Given the description of an element on the screen output the (x, y) to click on. 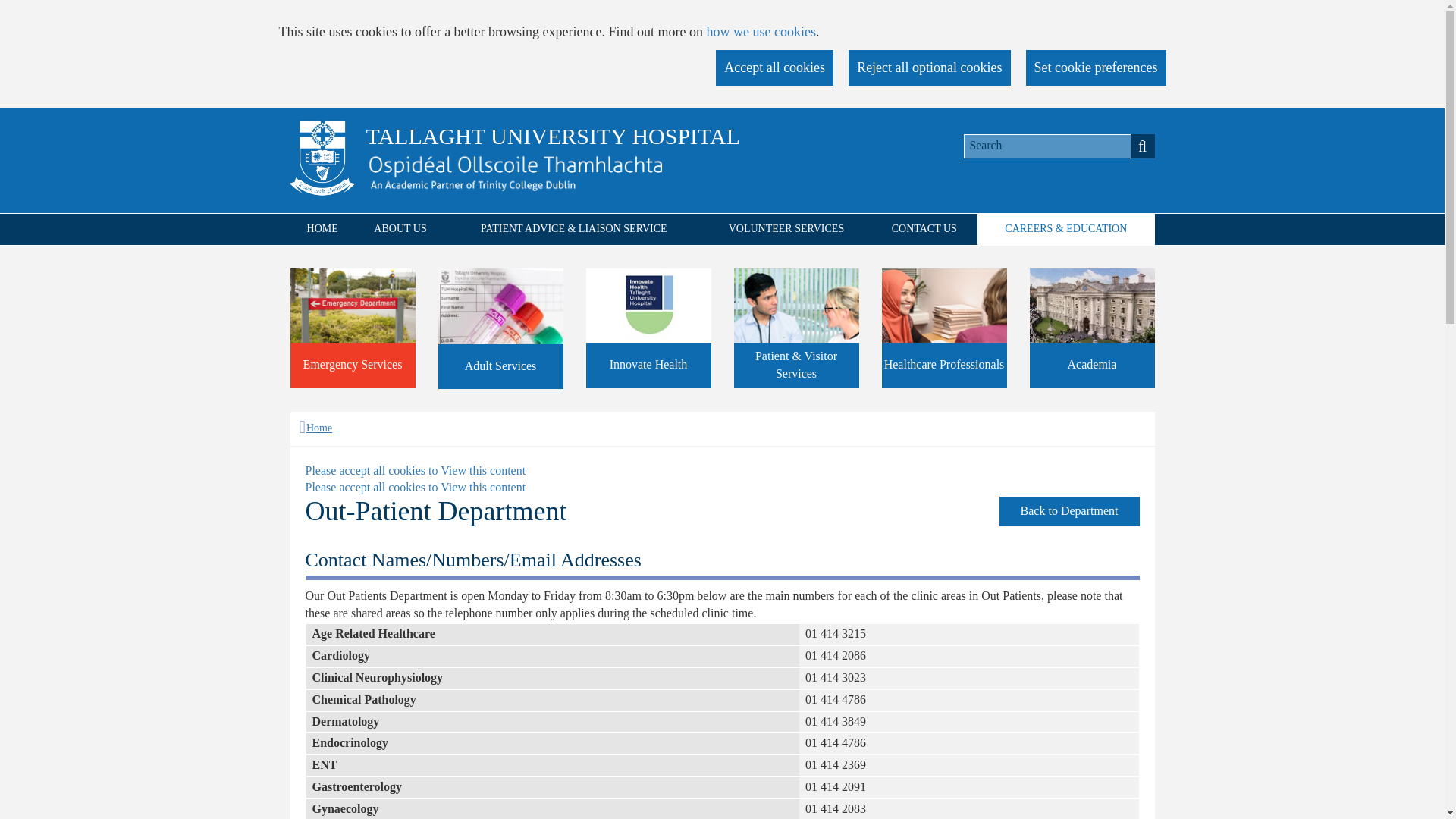
Innovate Health (647, 328)
Adult Services (500, 328)
Accept all cookies (774, 67)
Healthcare Professionals (943, 328)
Home (314, 428)
ABOUT US (400, 228)
Emergency Services (351, 328)
how we use cookies (760, 31)
Reject all optional cookies (929, 67)
HOME (321, 228)
